Given the description of an element on the screen output the (x, y) to click on. 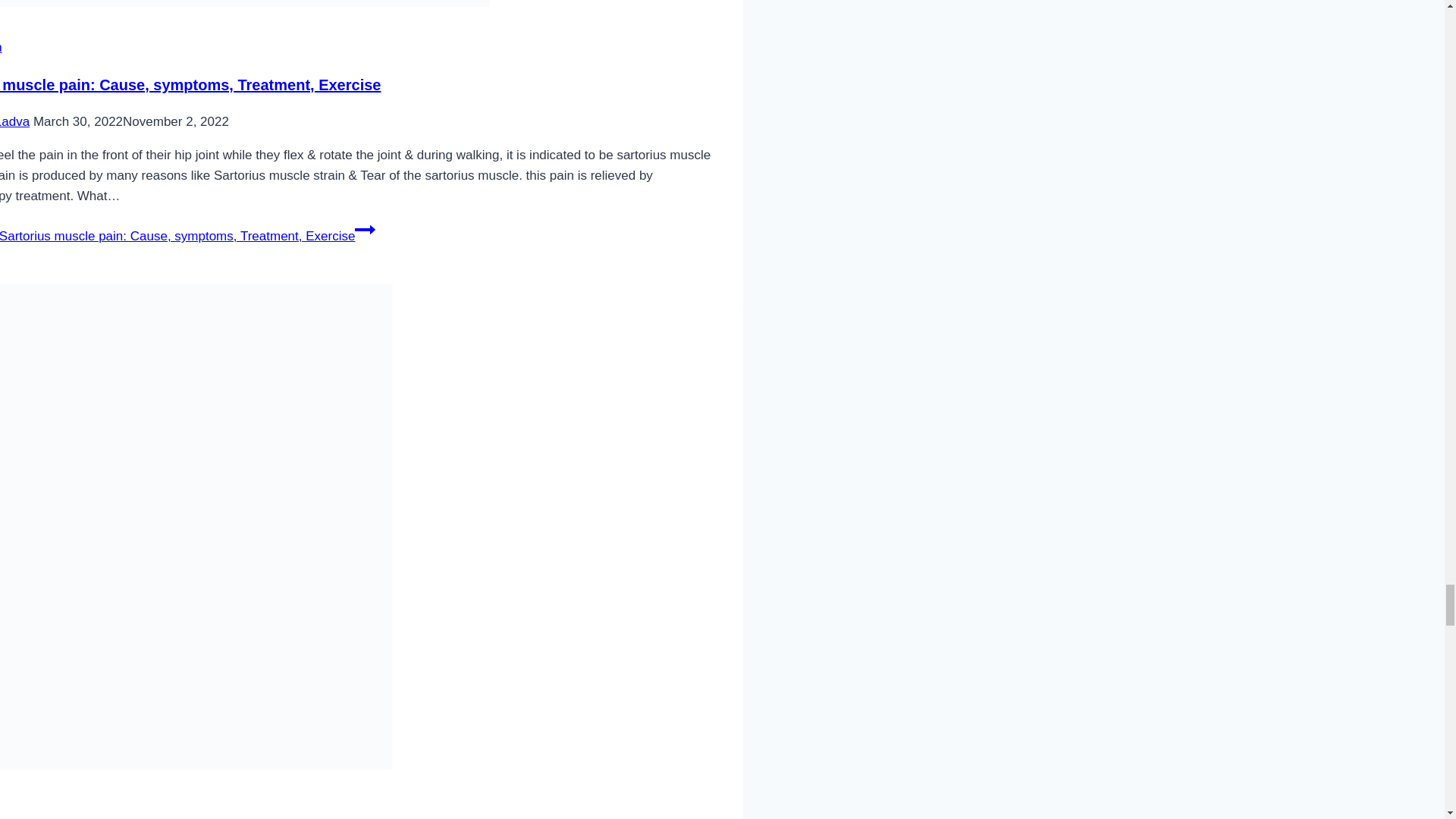
Continue (365, 229)
